Given the description of an element on the screen output the (x, y) to click on. 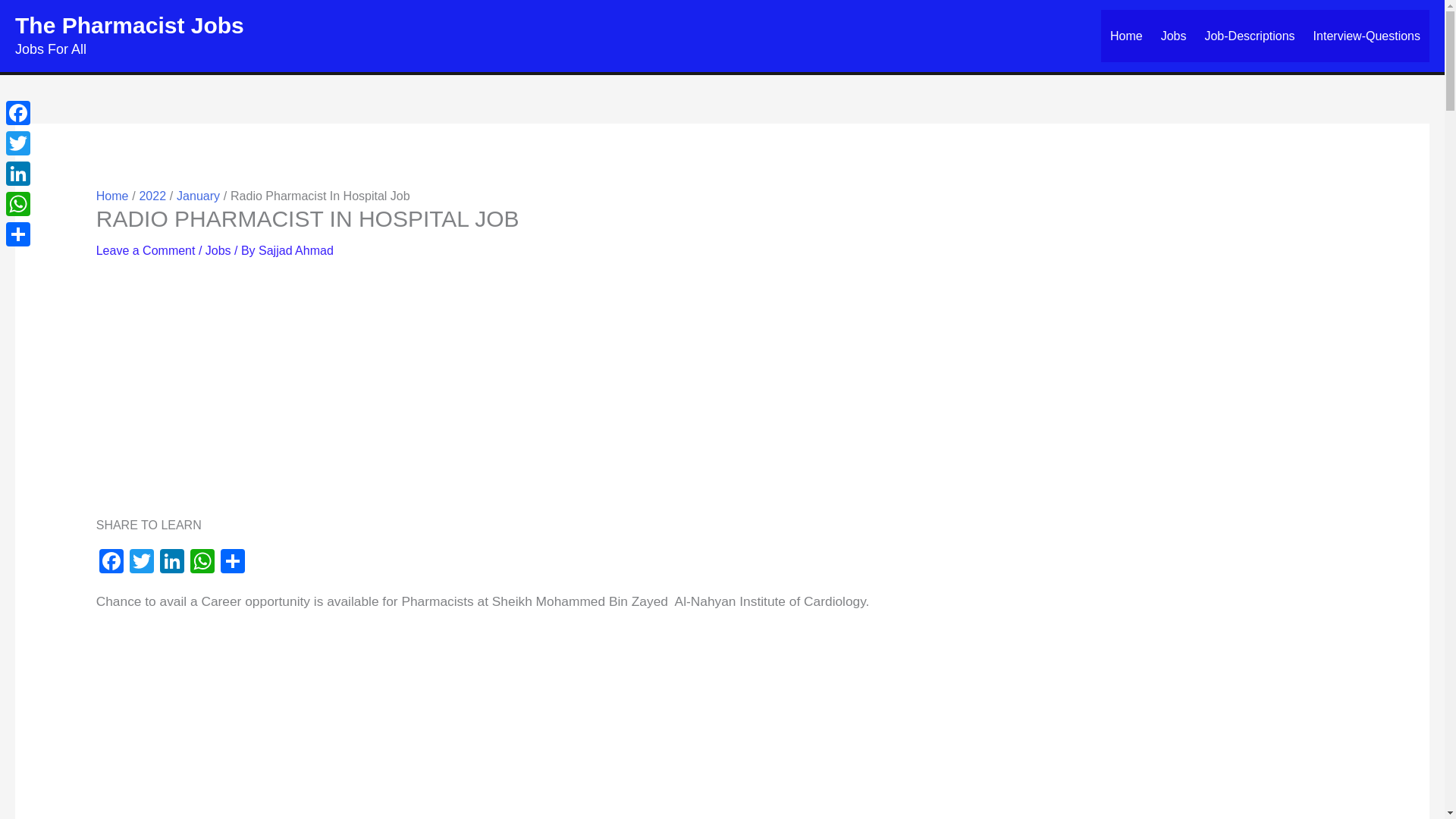
LinkedIn (172, 562)
Advertisement (721, 725)
The Pharmacist Jobs (129, 25)
WhatsApp (201, 562)
2022 (151, 195)
January (197, 195)
View all posts by Sajjad Ahmad (296, 250)
Jobs (218, 250)
Home (1125, 35)
Sajjad Ahmad (296, 250)
